Given the description of an element on the screen output the (x, y) to click on. 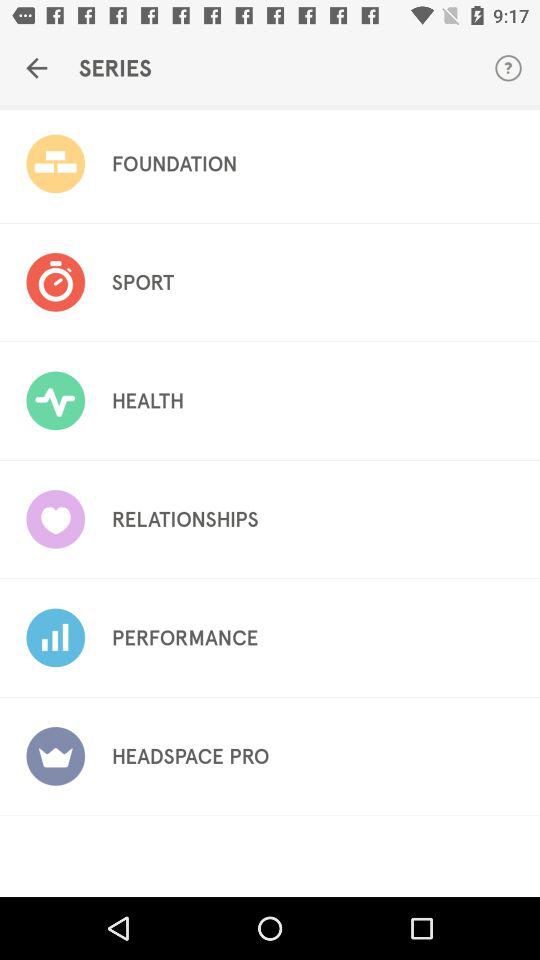
click the icon below relationships icon (184, 638)
